Given the description of an element on the screen output the (x, y) to click on. 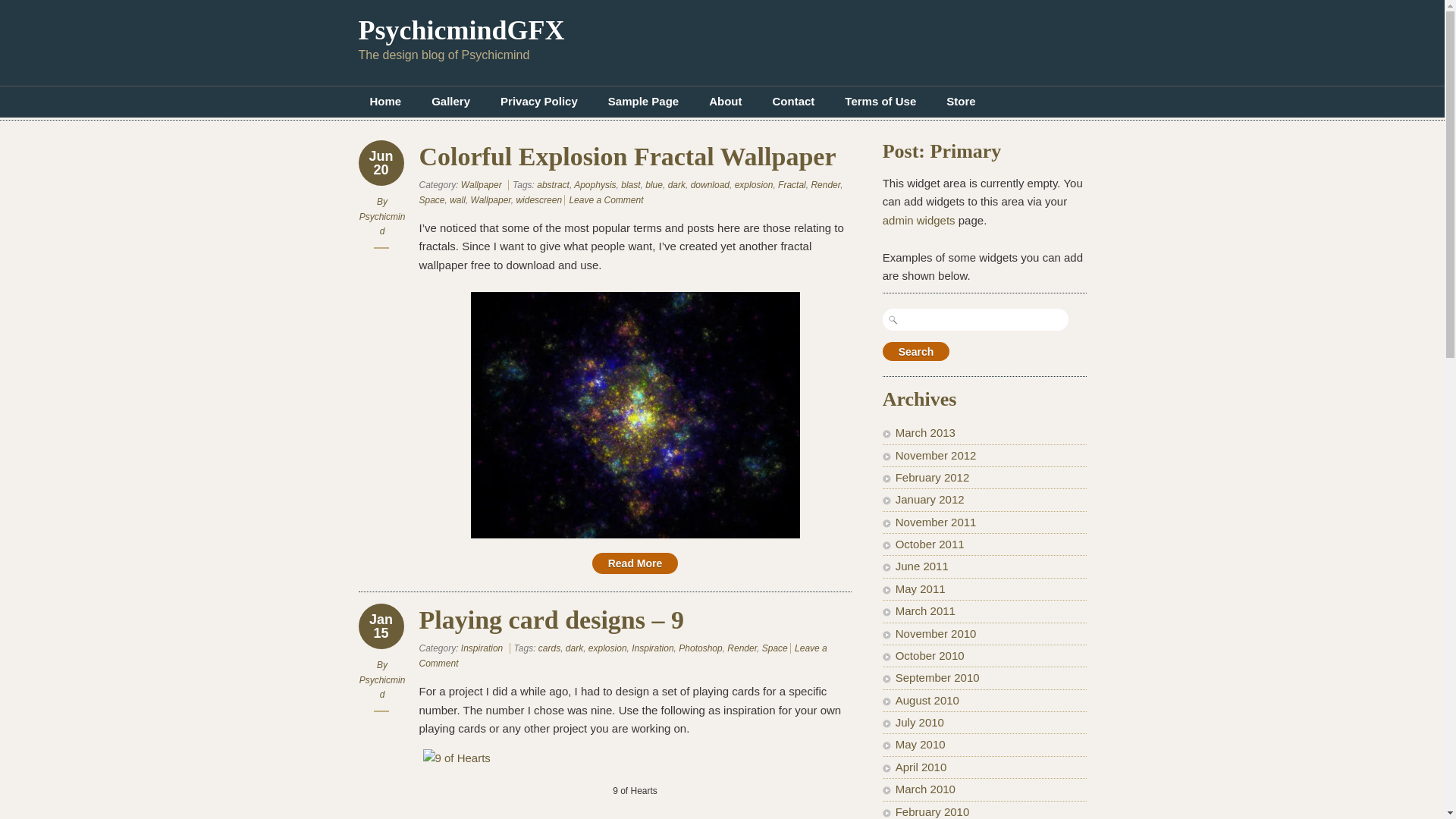
Posts by Psychicmind (382, 223)
Sample Page (643, 101)
Search (916, 351)
About (724, 101)
Posts by Psychicmind (382, 687)
Photoshop (700, 647)
dark (676, 184)
wall (457, 199)
Colorful-explosion-wallpaper1600-1200 (634, 414)
widescreen (538, 199)
